Given the description of an element on the screen output the (x, y) to click on. 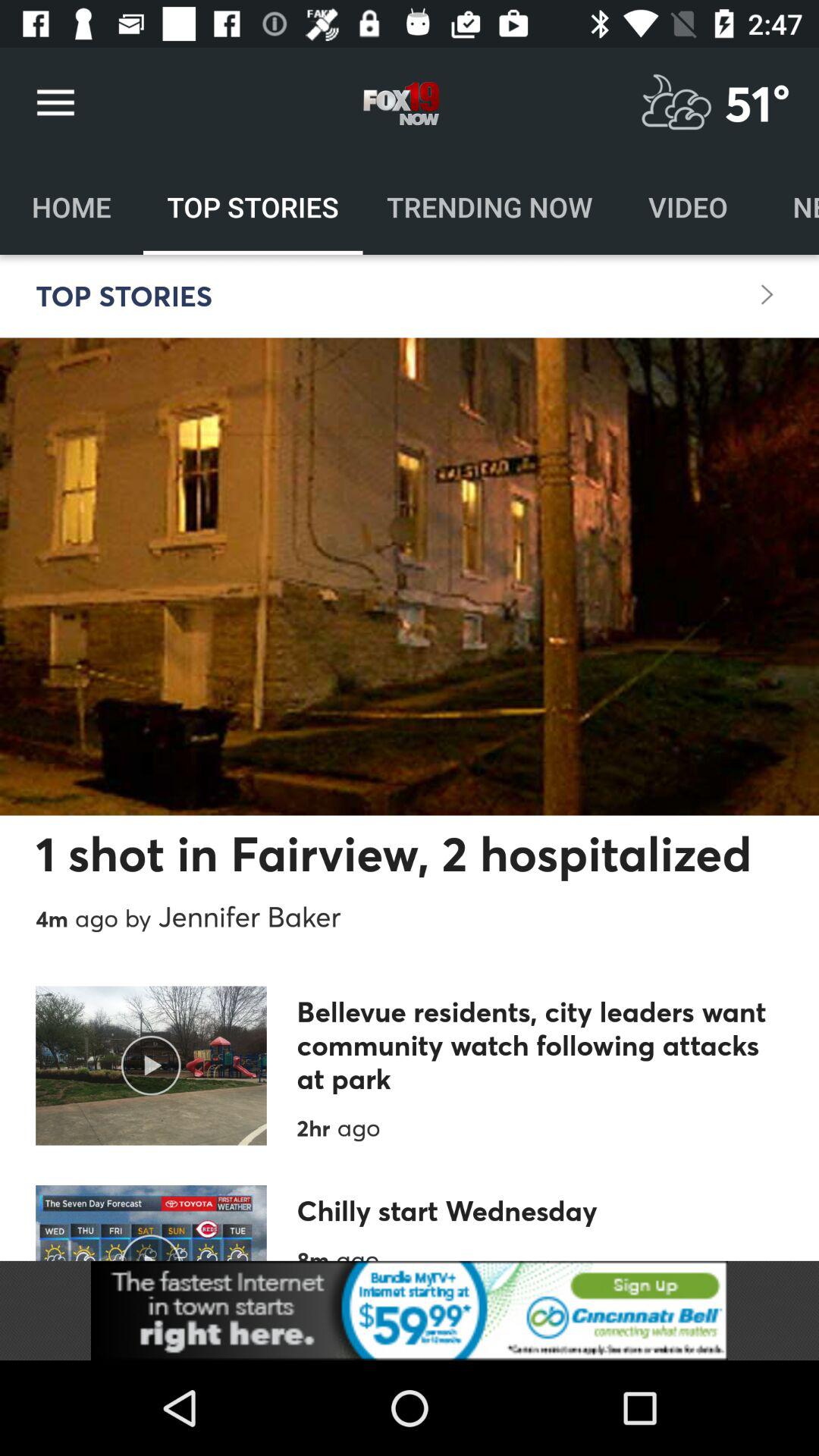
view weather option (676, 103)
